Given the description of an element on the screen output the (x, y) to click on. 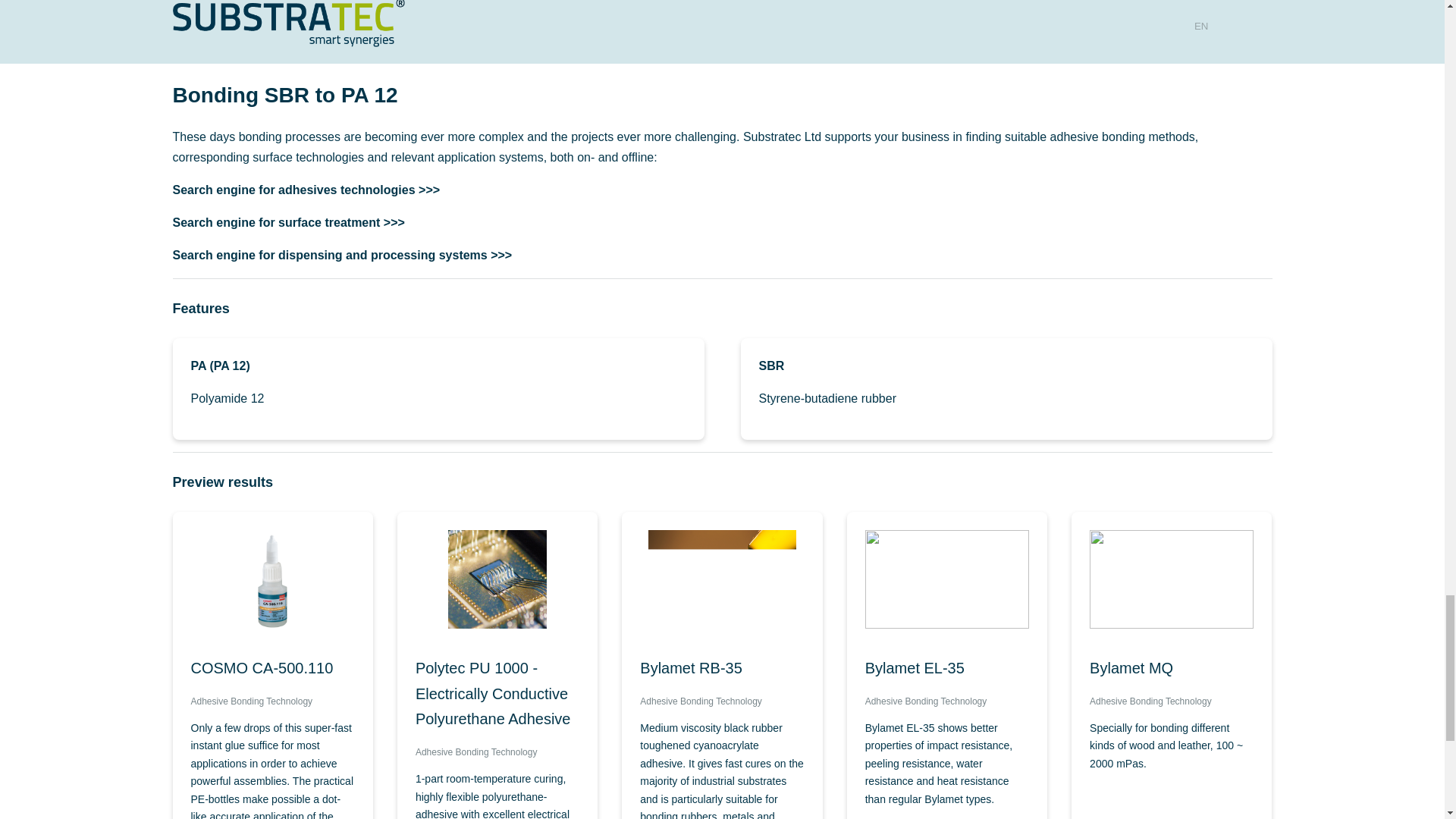
EN (1201, 26)
COSMO CA-500.110 (272, 668)
Bylamet RB-35 (721, 668)
Bylamet MQ (1171, 668)
Bylamet EL-35 (946, 668)
